Given the description of an element on the screen output the (x, y) to click on. 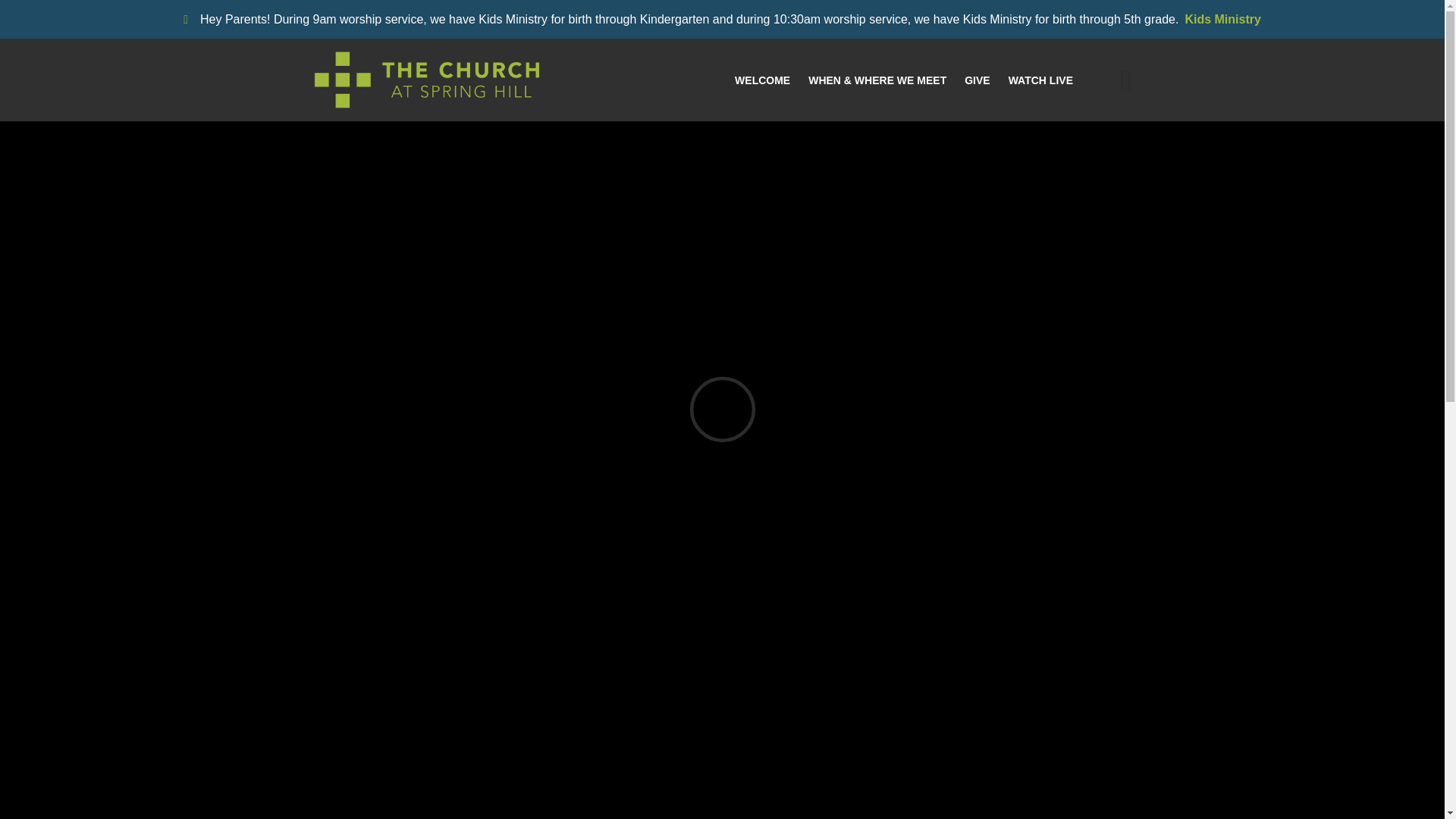
WATCH LIVE (1041, 80)
Watch Live (1041, 80)
GIVE (976, 80)
WELCOME (762, 80)
Welcome (762, 80)
Give (976, 80)
